Given the description of an element on the screen output the (x, y) to click on. 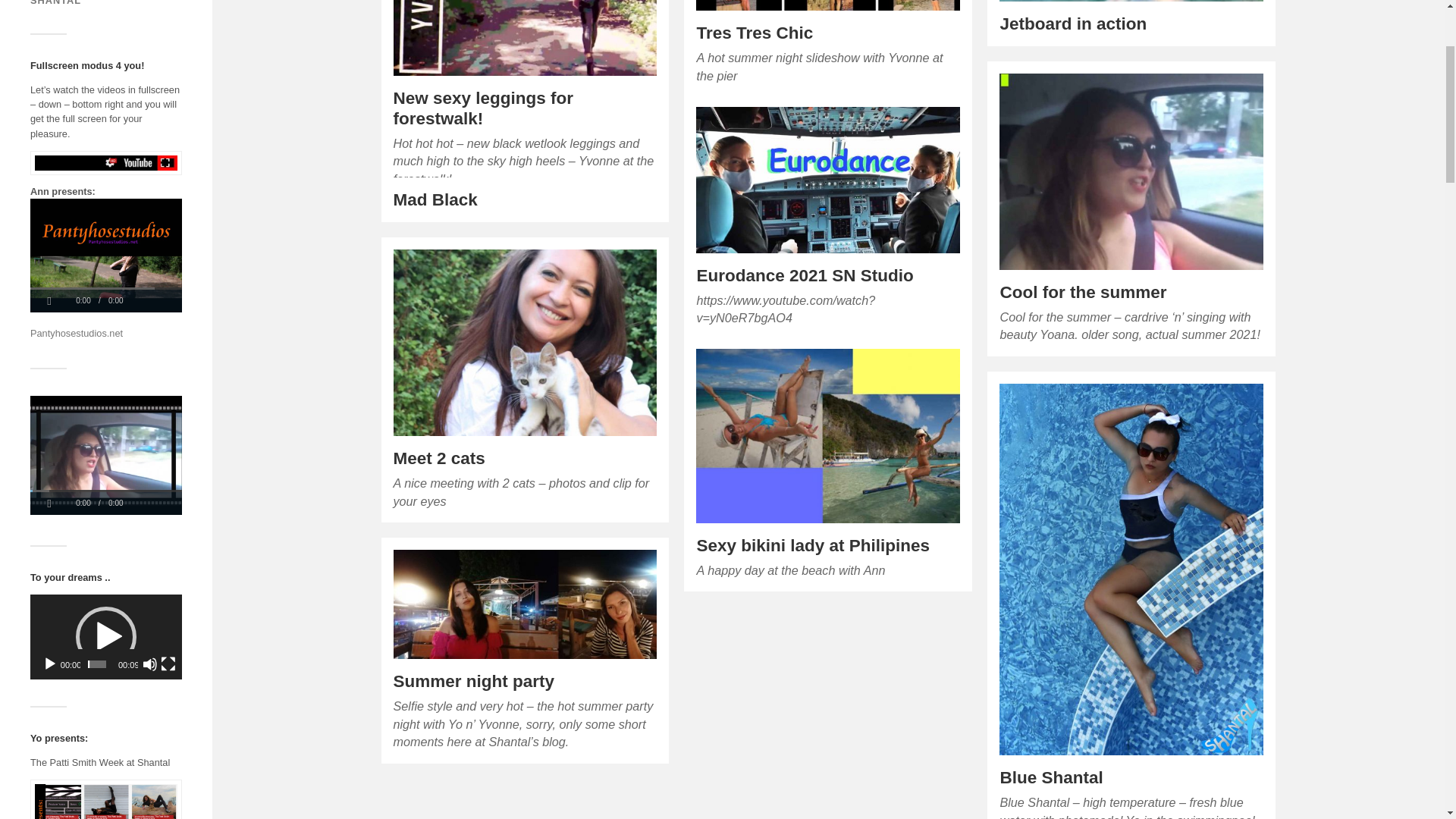
Mute (149, 663)
Play (50, 663)
Fullscreen (168, 663)
Pantyhosestudios.net (76, 333)
